Given the description of an element on the screen output the (x, y) to click on. 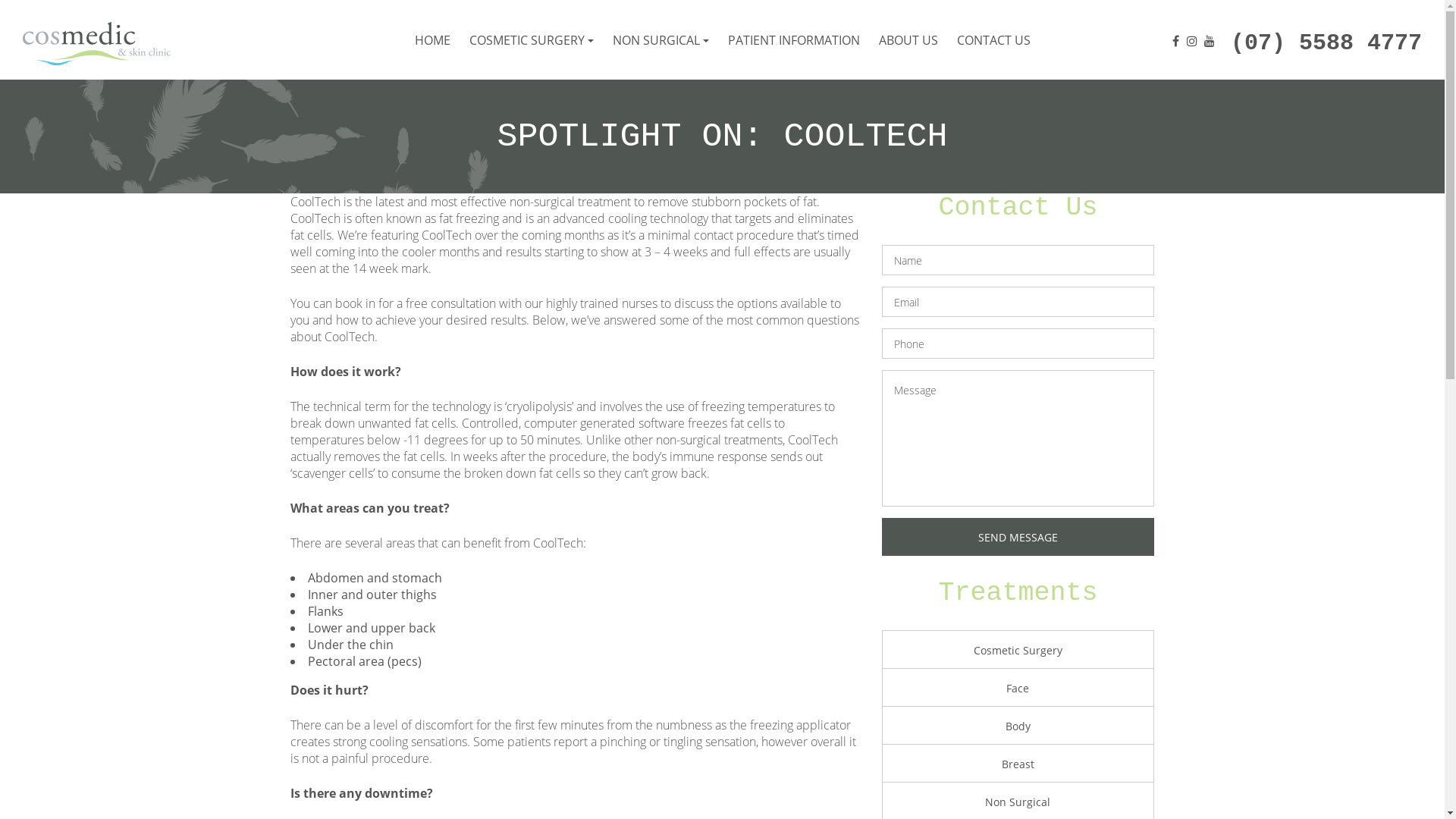
instragram Element type: hover (1191, 39)
youtube Element type: hover (1209, 39)
(07) 5588 4777 Element type: text (1325, 44)
Breast Element type: text (1017, 763)
HOME Element type: text (431, 39)
ABOUT US Element type: text (907, 39)
Body Element type: text (1017, 725)
Non Surgical Element type: text (1017, 801)
Cosmetic Surgery Element type: text (1017, 650)
NON SURGICAL Element type: text (660, 39)
PATIENT INFORMATION Element type: text (793, 39)
Send Message Element type: text (1017, 536)
COSMETIC SURGERY Element type: text (530, 39)
CONTACT US Element type: text (993, 39)
facebook Element type: hover (1175, 39)
Face Element type: text (1017, 687)
